Given the description of an element on the screen output the (x, y) to click on. 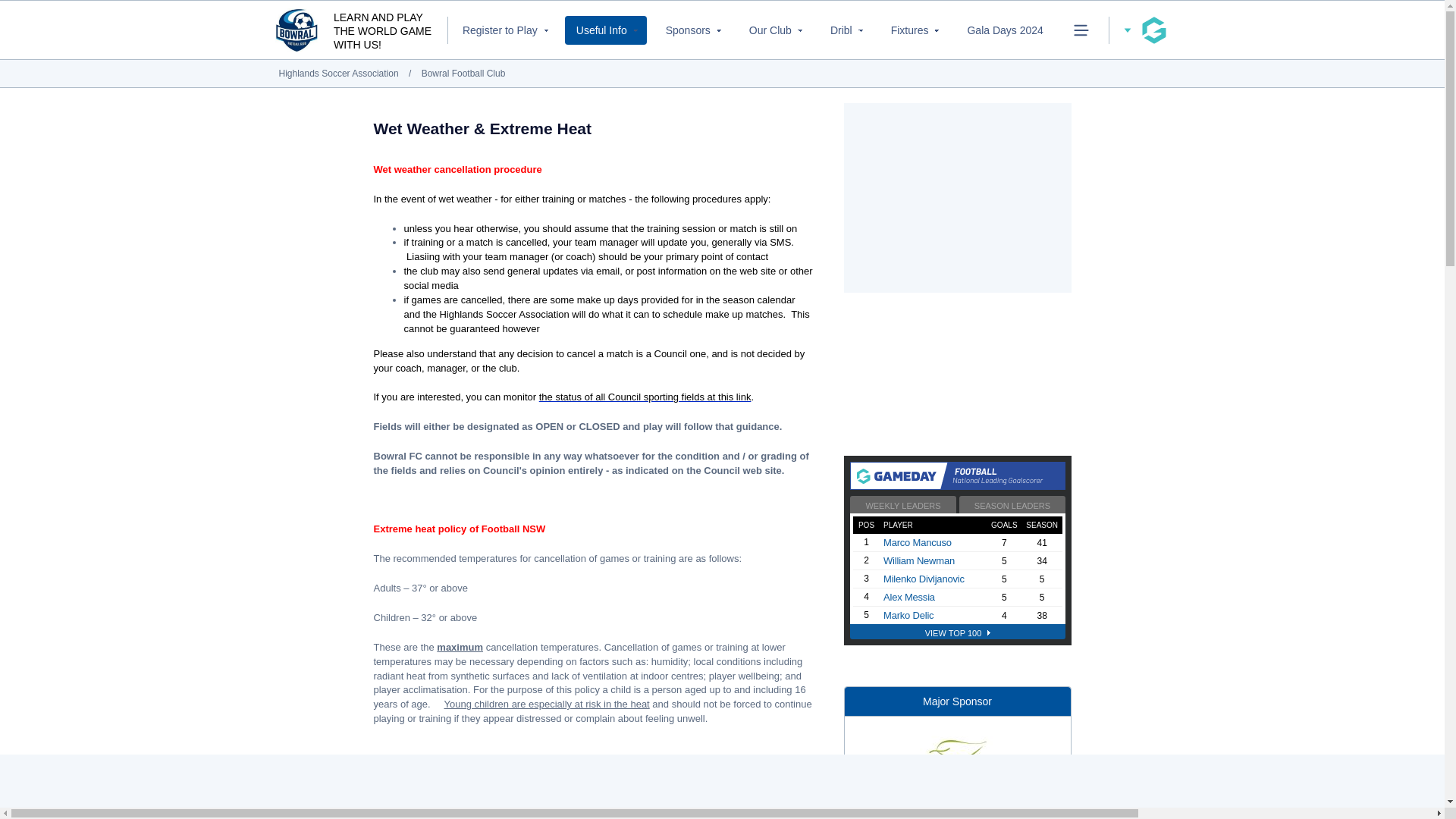
Register to Play (504, 30)
Useful Info (605, 30)
WSC Sports Fields Status (627, 396)
Gala Days 2024 (1004, 30)
Fixtures (914, 30)
Dribl (845, 30)
WSC Sports Fields Status (734, 396)
Our Club (774, 30)
Sponsors (691, 30)
